Given the description of an element on the screen output the (x, y) to click on. 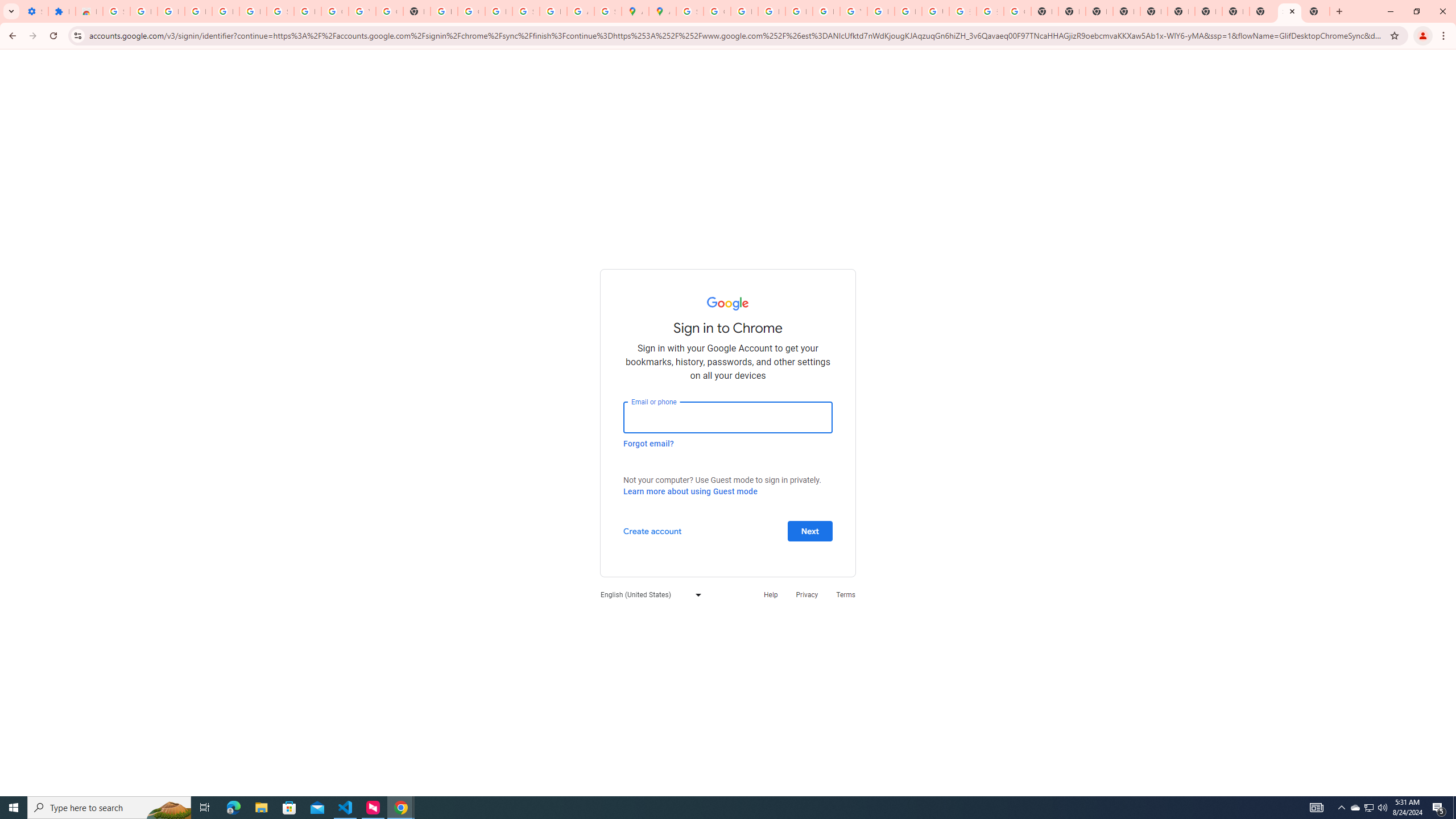
Sign in - Google Accounts (280, 11)
YouTube (853, 11)
Learn how to find your photos - Google Photos Help (225, 11)
New Tab (1126, 11)
https://scholar.google.com/ (444, 11)
Sign in - Google Accounts (116, 11)
